Given the description of an element on the screen output the (x, y) to click on. 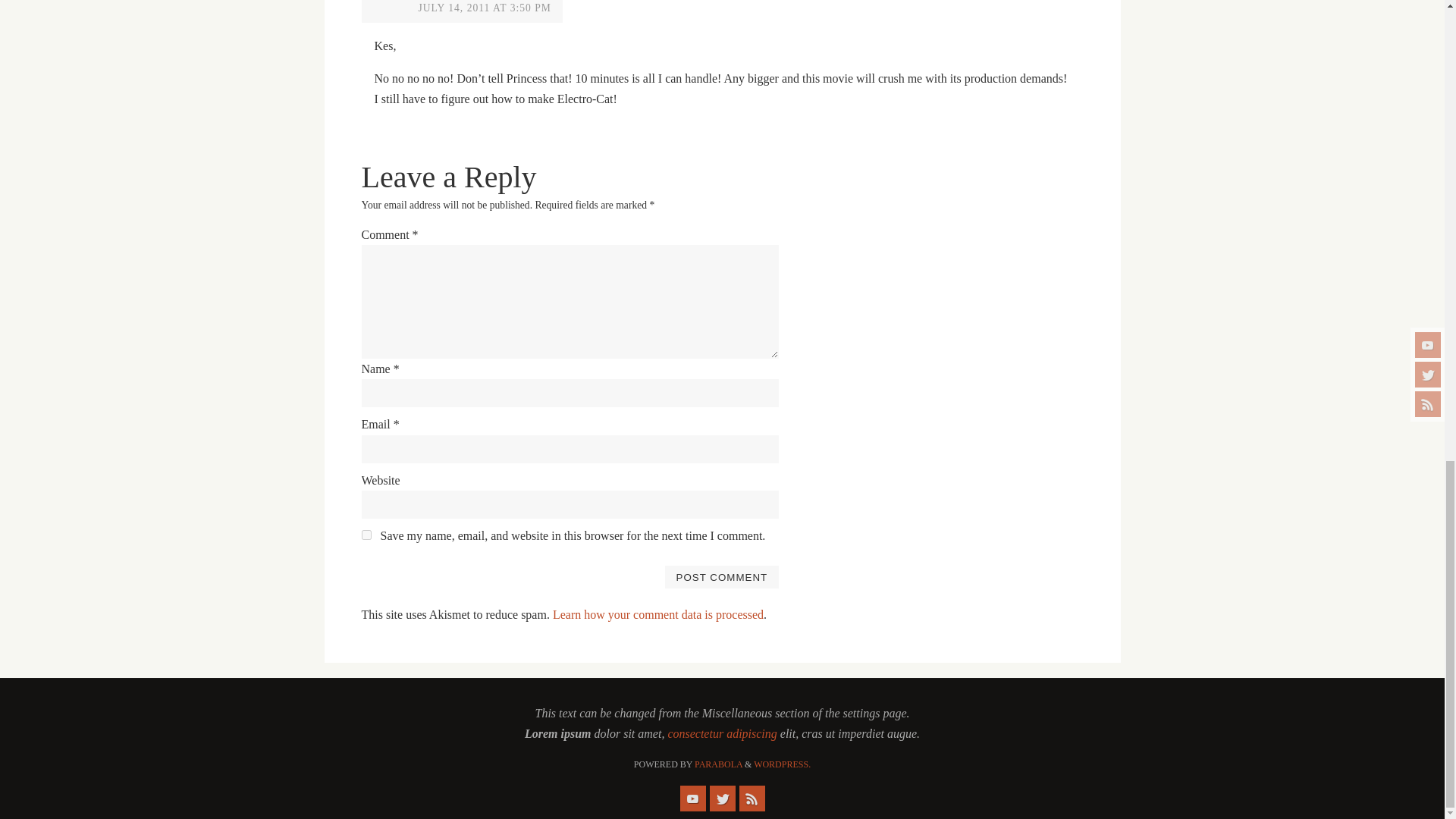
RSS (751, 798)
consectetur adipiscing (721, 733)
YouTube (691, 798)
Twitter (722, 798)
WORDPRESS. (782, 764)
Post Comment (721, 576)
Post Comment (721, 576)
Learn how your comment data is processed (657, 614)
Parabola Theme by Cryout Creations (718, 764)
JULY 14, 2011 AT 3:50 PM (485, 7)
